Given the description of an element on the screen output the (x, y) to click on. 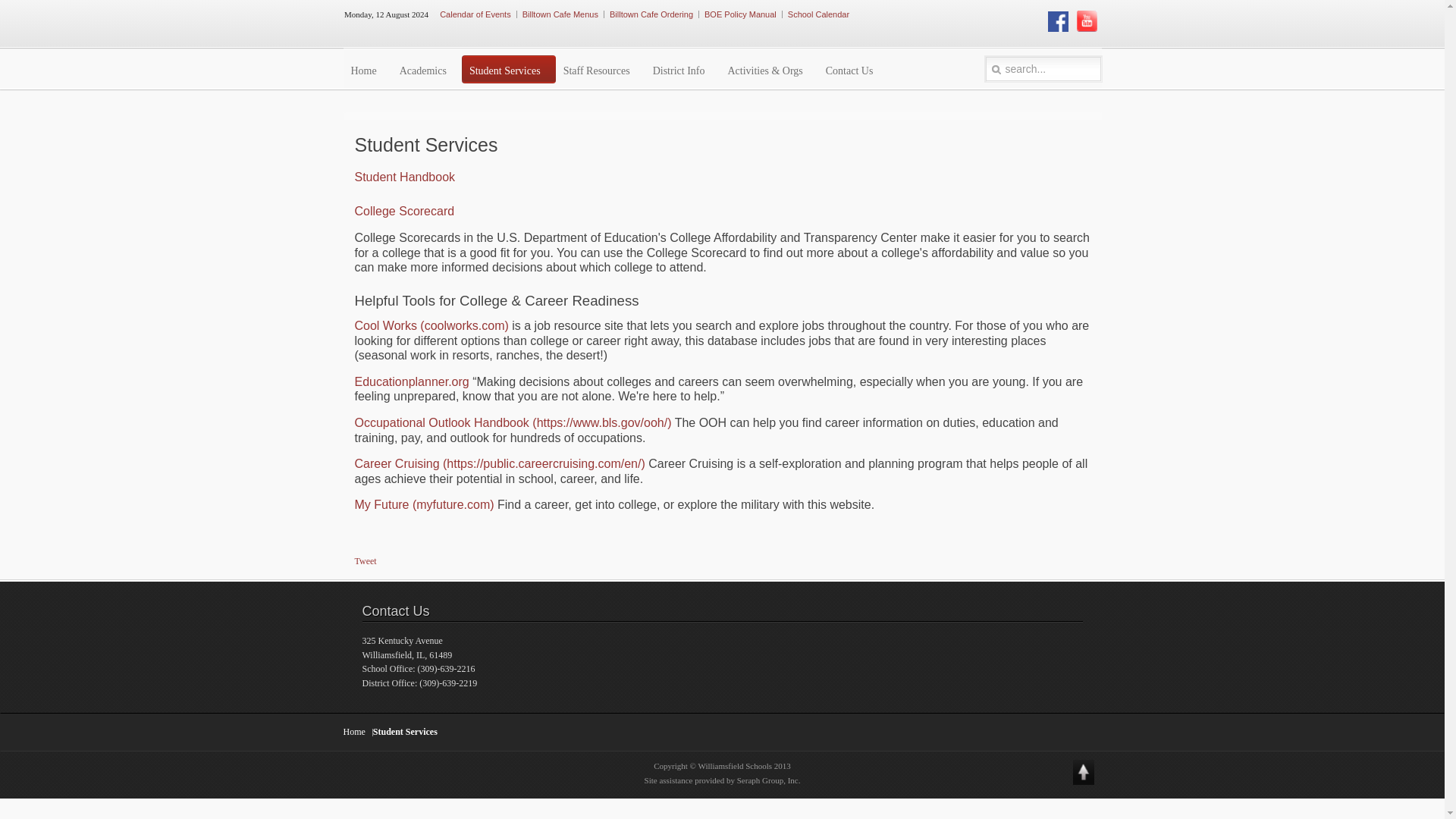
Calendar of Events (475, 14)
Contact Us (853, 66)
Billtown Cafe Menus (560, 14)
Reset (8, 2)
College Scorecard (404, 210)
Home (366, 66)
Student Handbook (405, 176)
Staff Resources (600, 66)
BOE Policy Manual (740, 14)
School Calendar (817, 14)
